Given the description of an element on the screen output the (x, y) to click on. 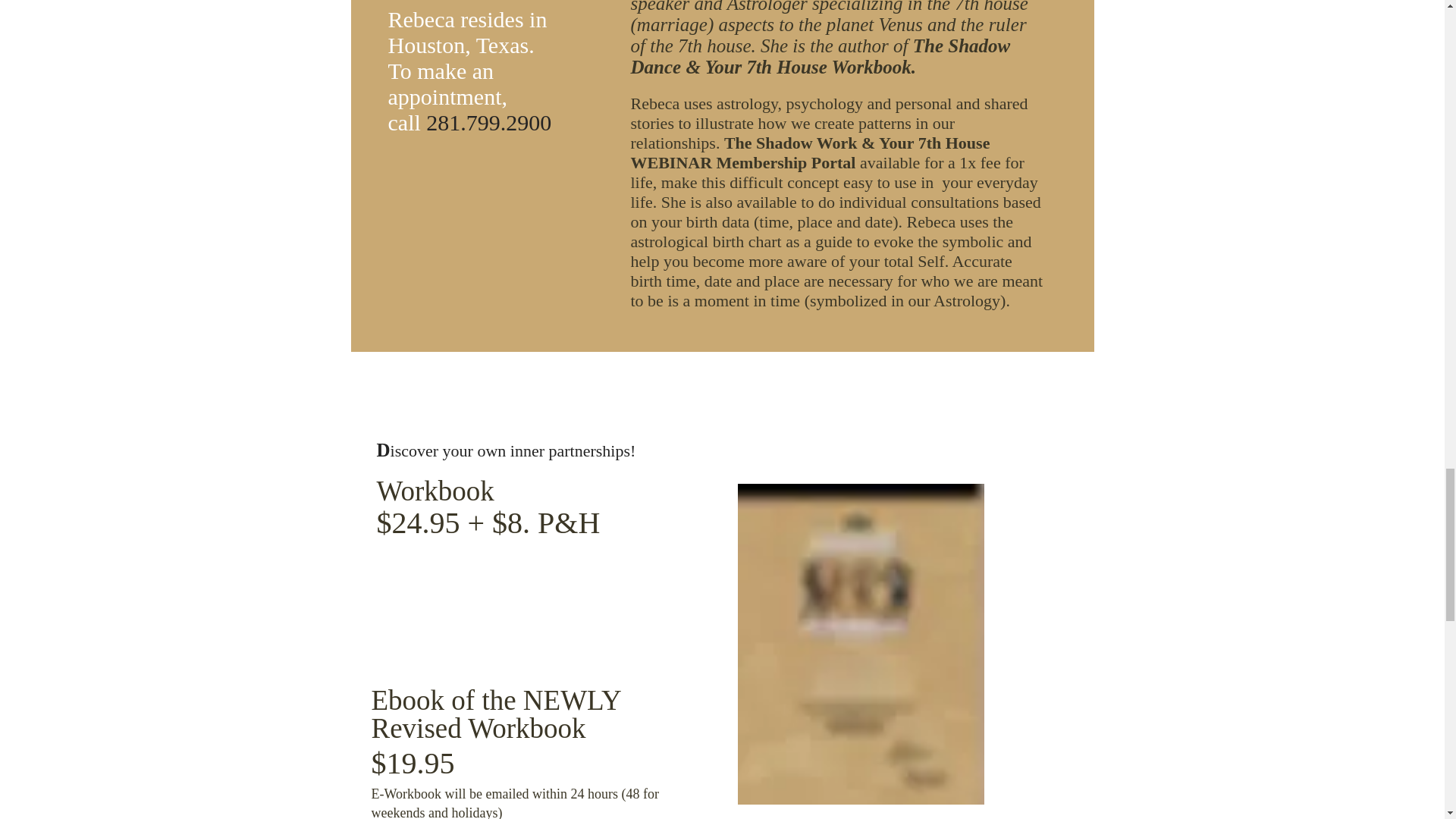
The Shadow Work (790, 142)
consultations (957, 201)
Your 7th House WEBINAR Membership Portal (810, 152)
